Given the description of an element on the screen output the (x, y) to click on. 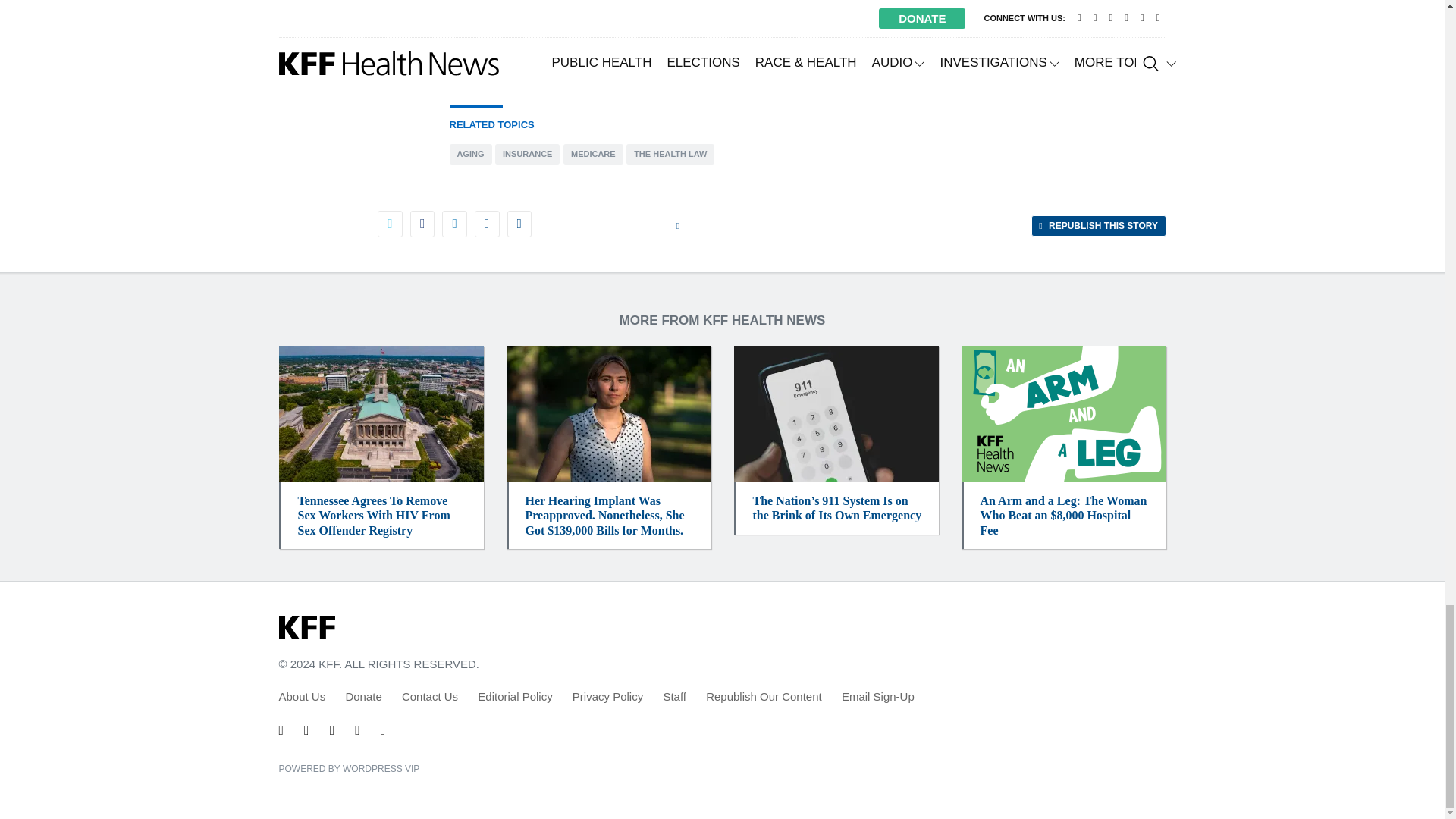
Click to print (519, 223)
Click to share on LinkedIn (454, 223)
Click to share on Twitter (390, 223)
Click to share on Facebook (422, 223)
Click to email a link to a friend (486, 223)
Click to share (1098, 225)
KFF (306, 627)
